Given the description of an element on the screen output the (x, y) to click on. 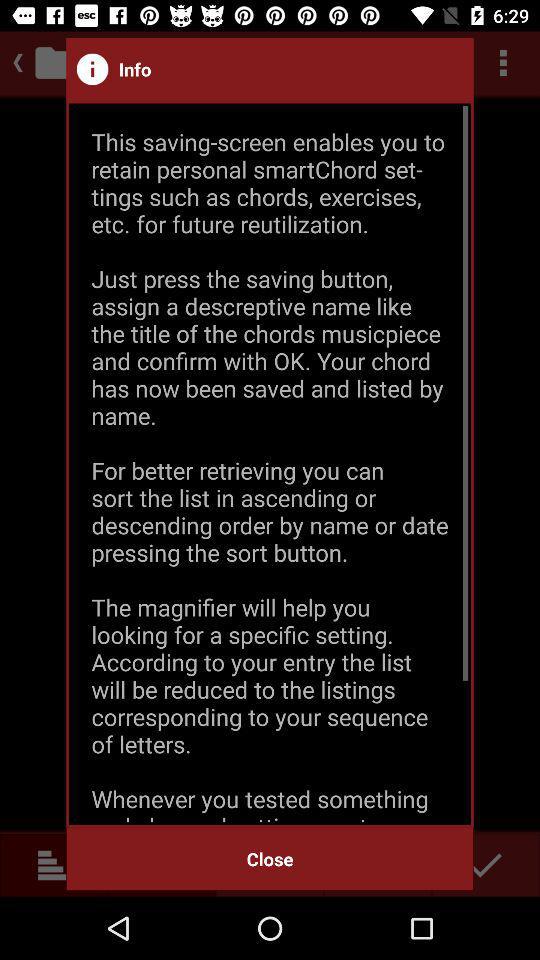
turn off the item below the this saving screen (269, 858)
